Given the description of an element on the screen output the (x, y) to click on. 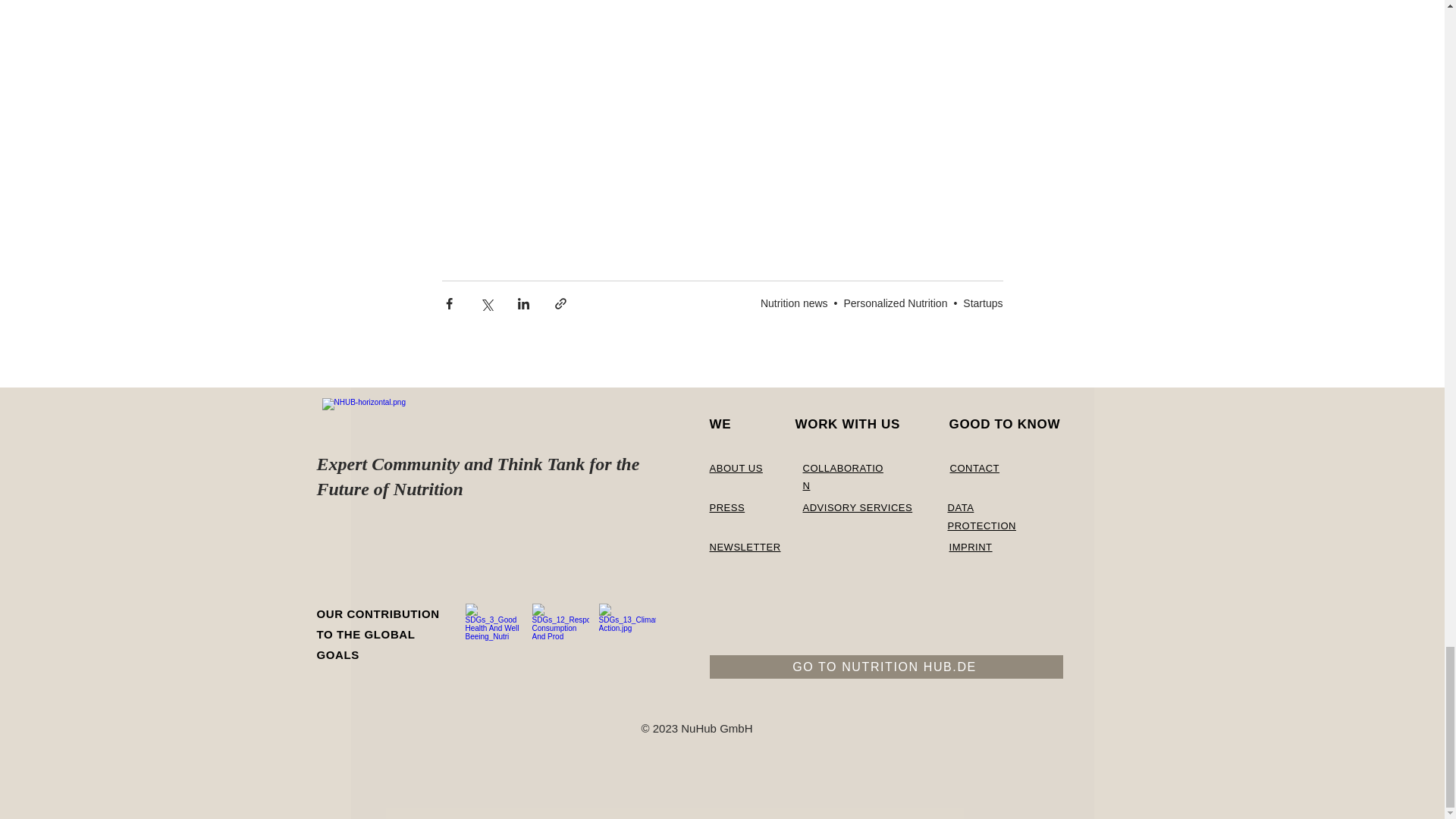
ADVISORY SERVICES (857, 507)
Personalized Nutrition (895, 303)
Startups (982, 303)
GOOD TO KNOW (1005, 423)
CONTACT (973, 468)
WORK WITH US (846, 423)
ABOUT US (736, 468)
WE (721, 423)
DATA PROTECTION (981, 516)
PRESS (727, 507)
NEWSLETTER (745, 546)
COLLABORATION (842, 476)
IMPRINT (970, 546)
Nutrition news (794, 303)
